Given the description of an element on the screen output the (x, y) to click on. 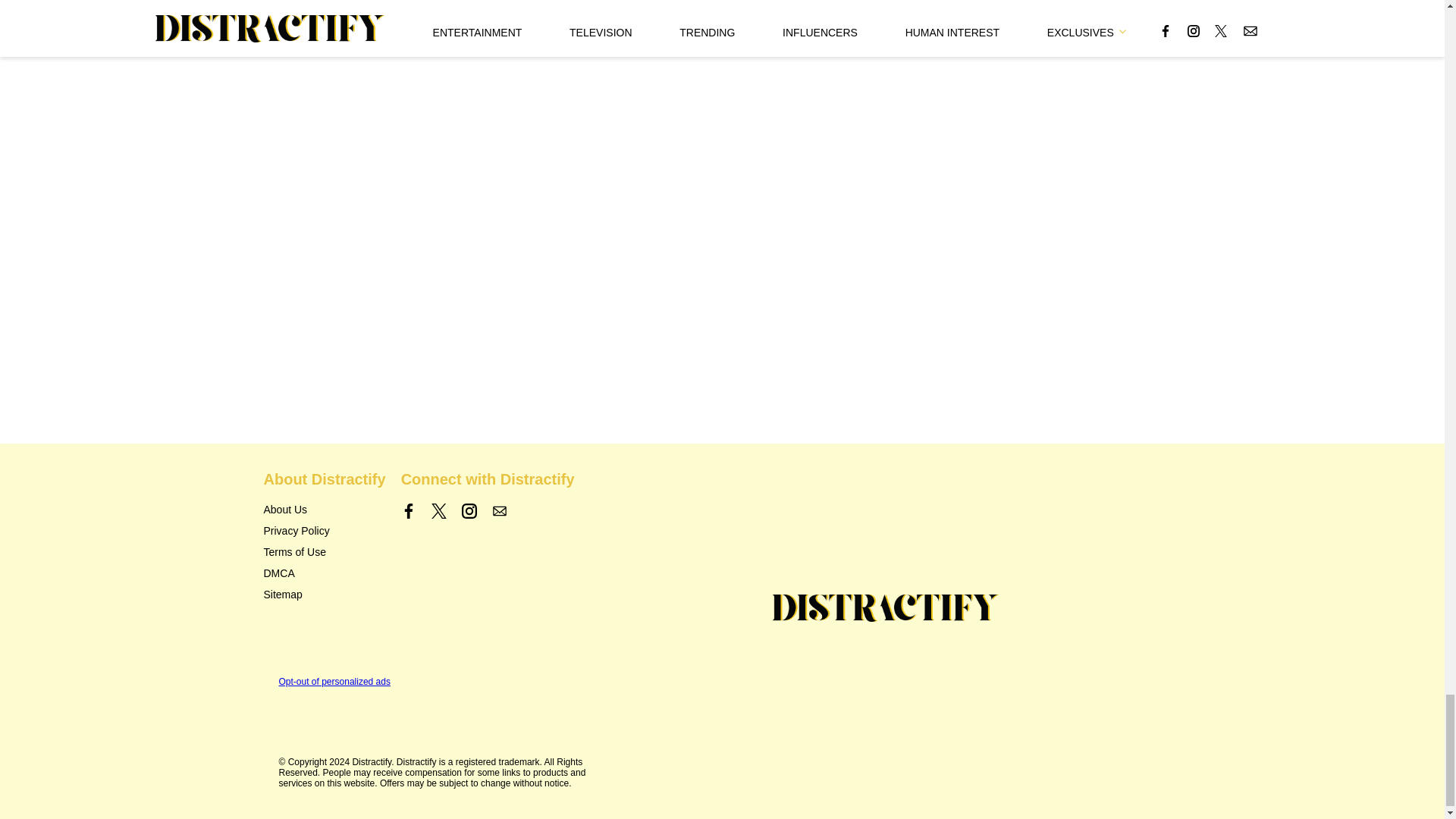
Link to X (438, 510)
About Us (285, 509)
Link to Instagram (469, 510)
Link to Facebook (408, 510)
Privacy Policy (296, 530)
Terms of Use (294, 551)
DMCA (279, 573)
Sitemap (282, 594)
About Us (285, 509)
Contact us by Email (499, 510)
